Given the description of an element on the screen output the (x, y) to click on. 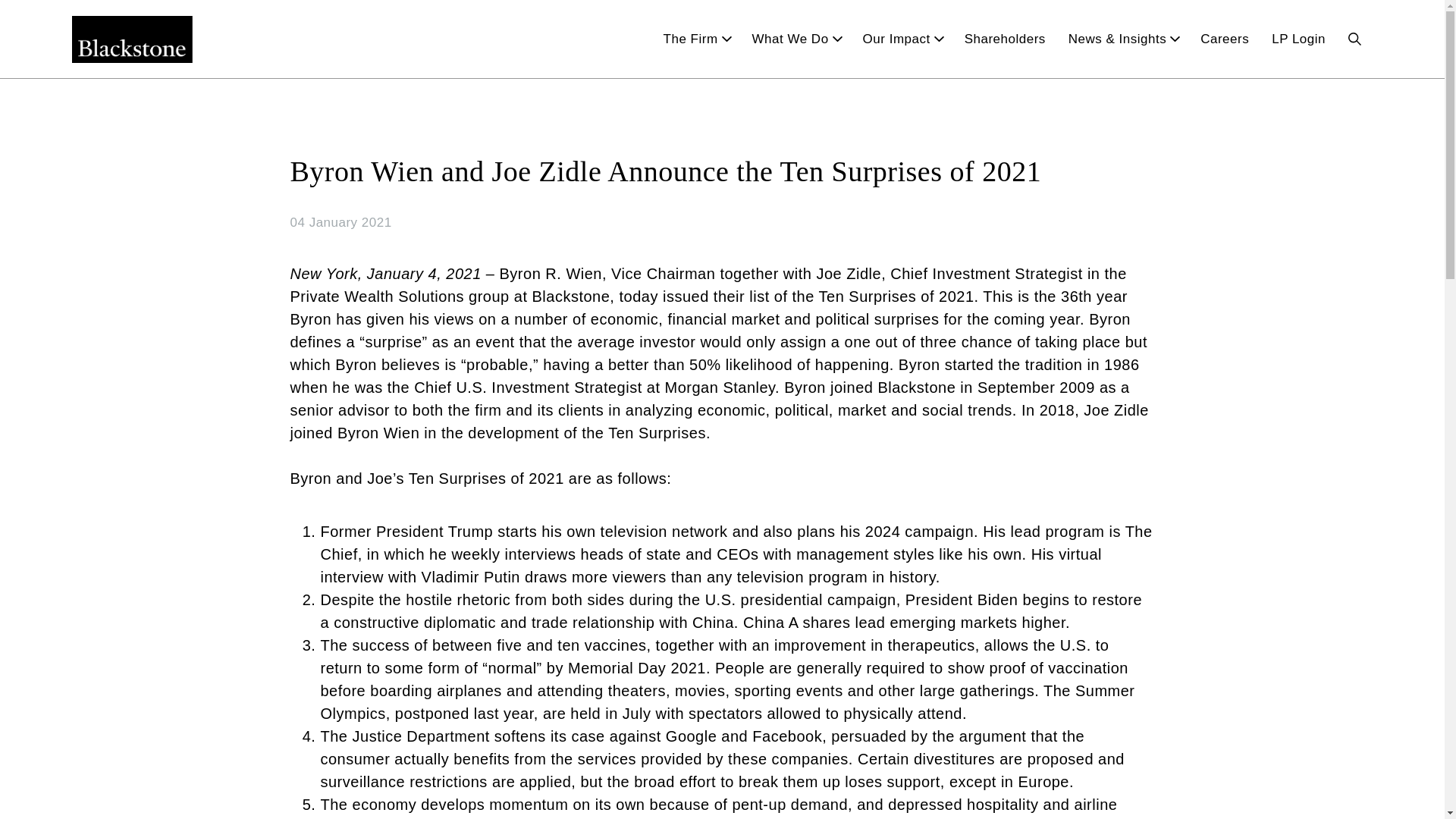
The Firm (696, 39)
What We Do (796, 39)
Our Impact (902, 39)
Blackstone (131, 38)
